Given the description of an element on the screen output the (x, y) to click on. 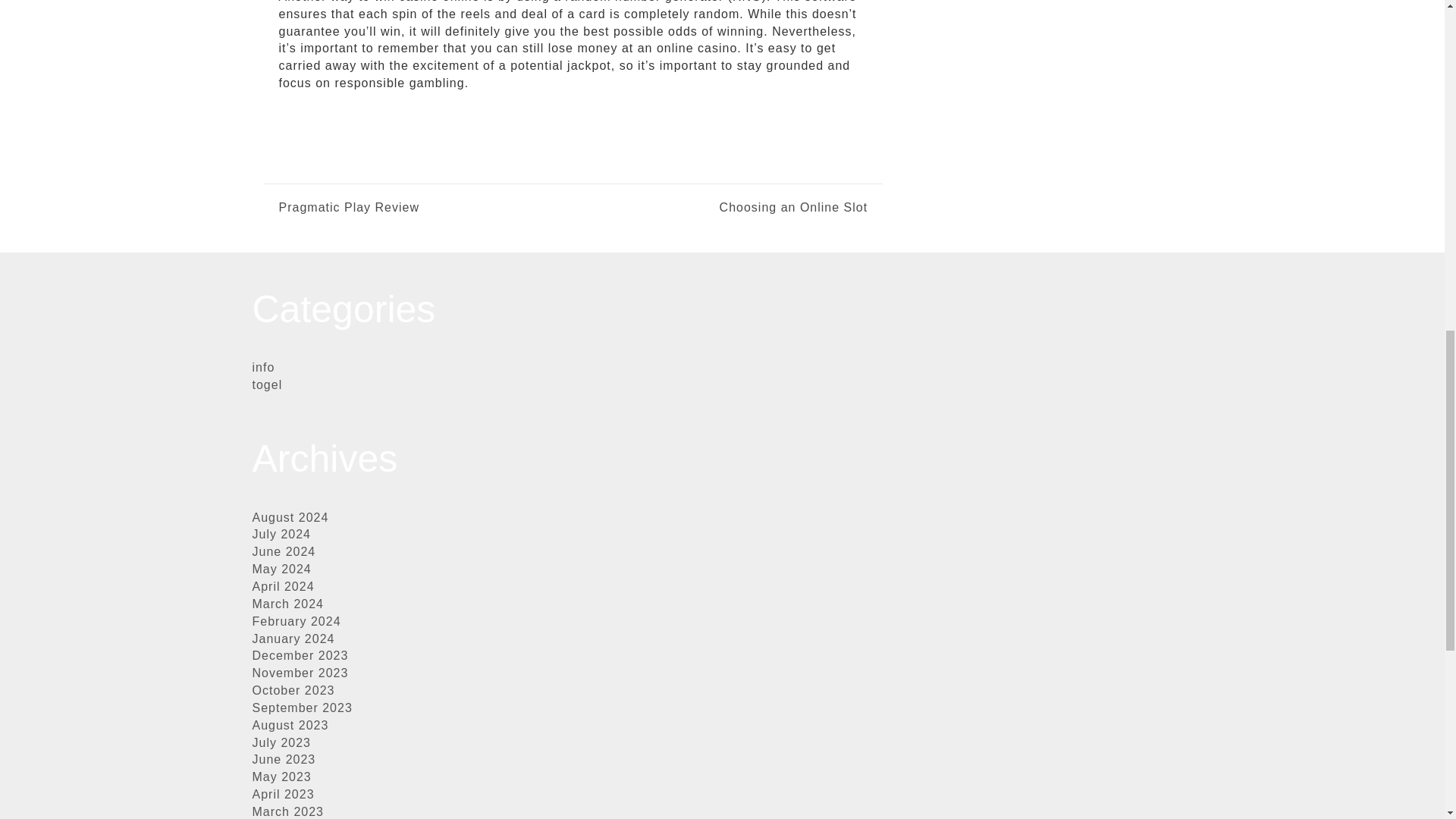
January 2024 (292, 638)
April 2024 (282, 585)
November 2023 (299, 672)
August 2024 (290, 517)
March 2023 (287, 811)
info (263, 367)
Pragmatic Play Review (349, 208)
July 2023 (281, 742)
September 2023 (301, 707)
April 2023 (282, 793)
March 2024 (287, 603)
October 2023 (292, 689)
June 2023 (283, 758)
July 2024 (281, 533)
togel (266, 384)
